Given the description of an element on the screen output the (x, y) to click on. 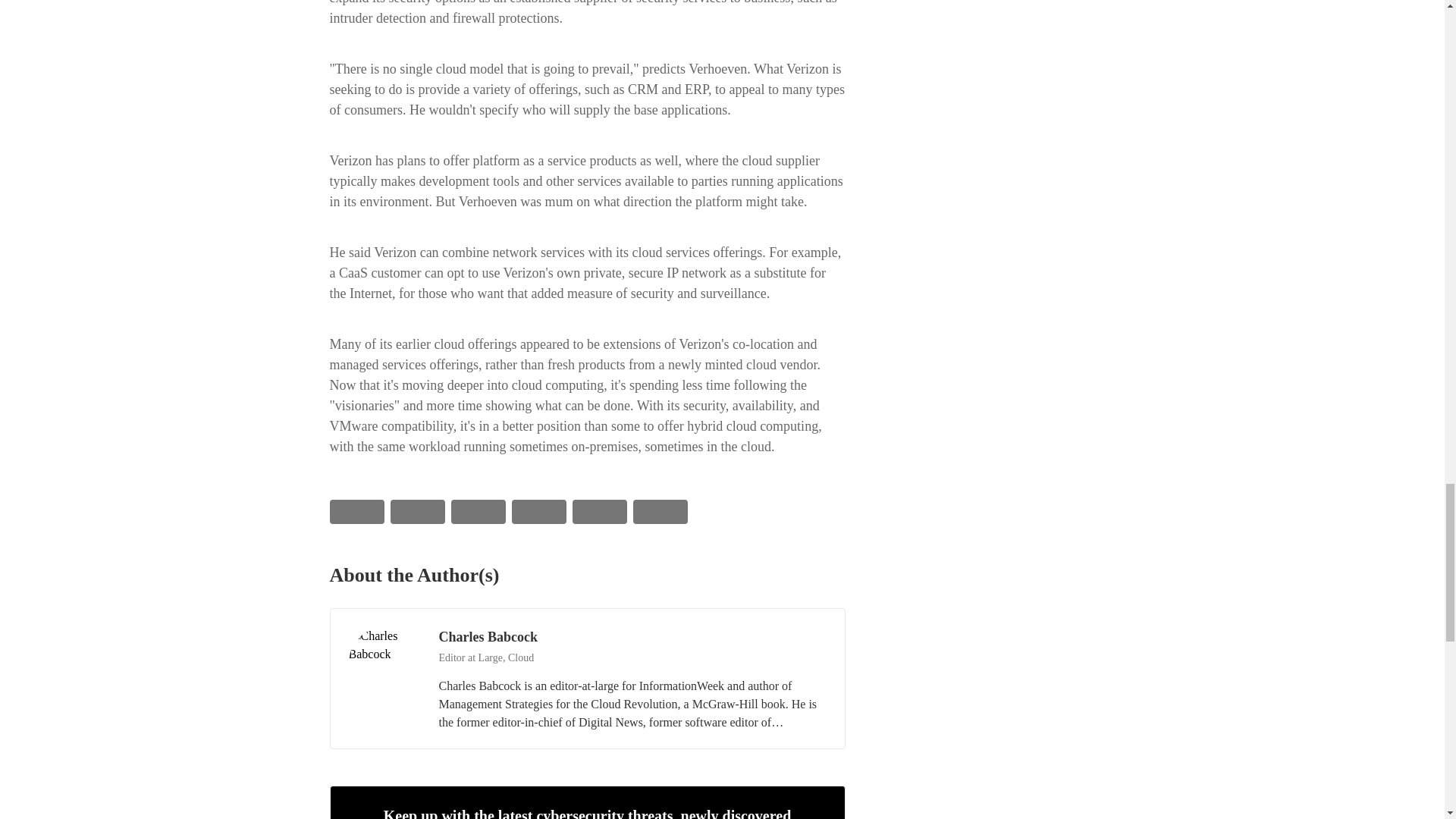
Charles Babcock (384, 663)
